Given the description of an element on the screen output the (x, y) to click on. 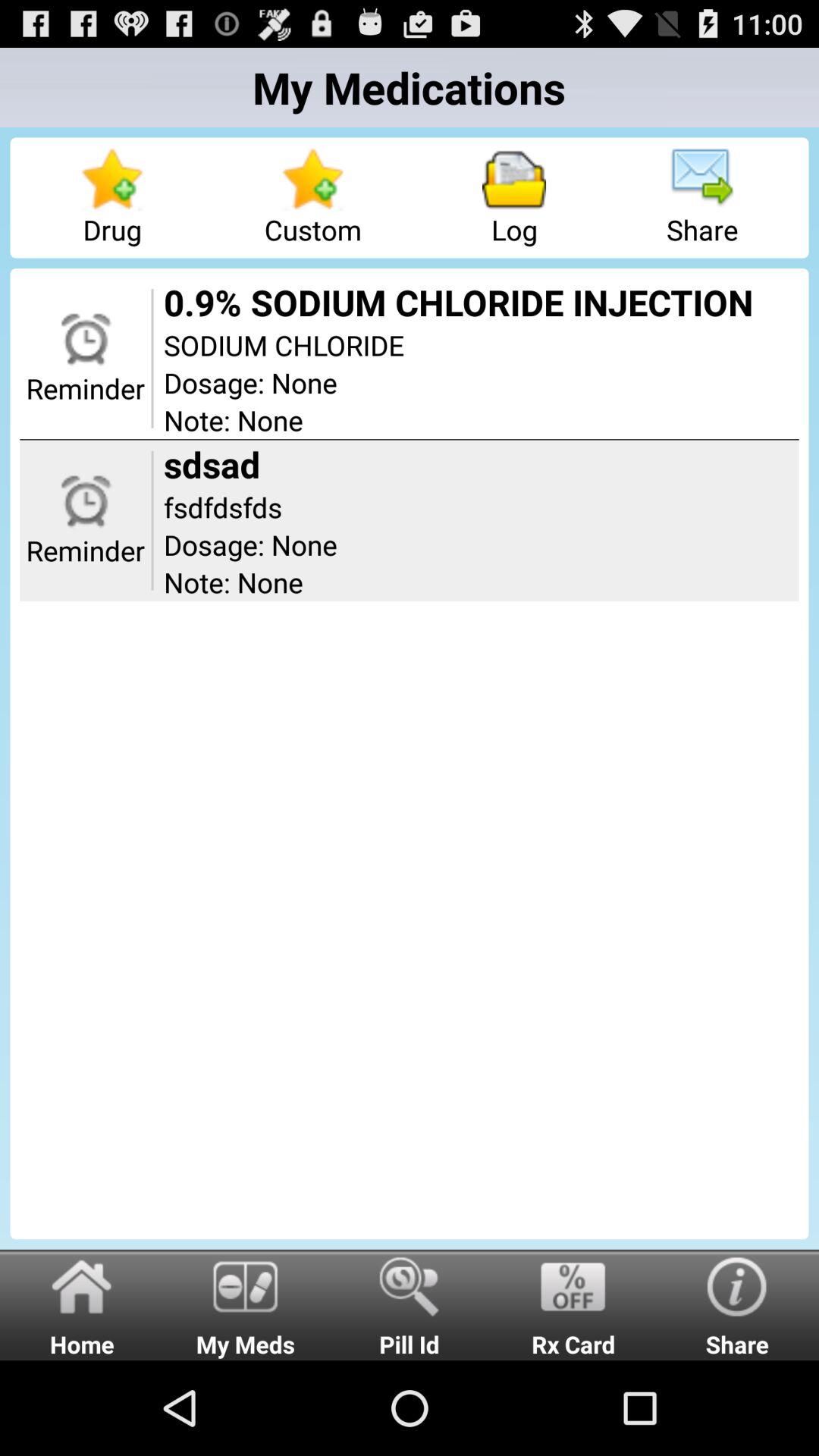
choose item to the right of my meds icon (409, 1304)
